Given the description of an element on the screen output the (x, y) to click on. 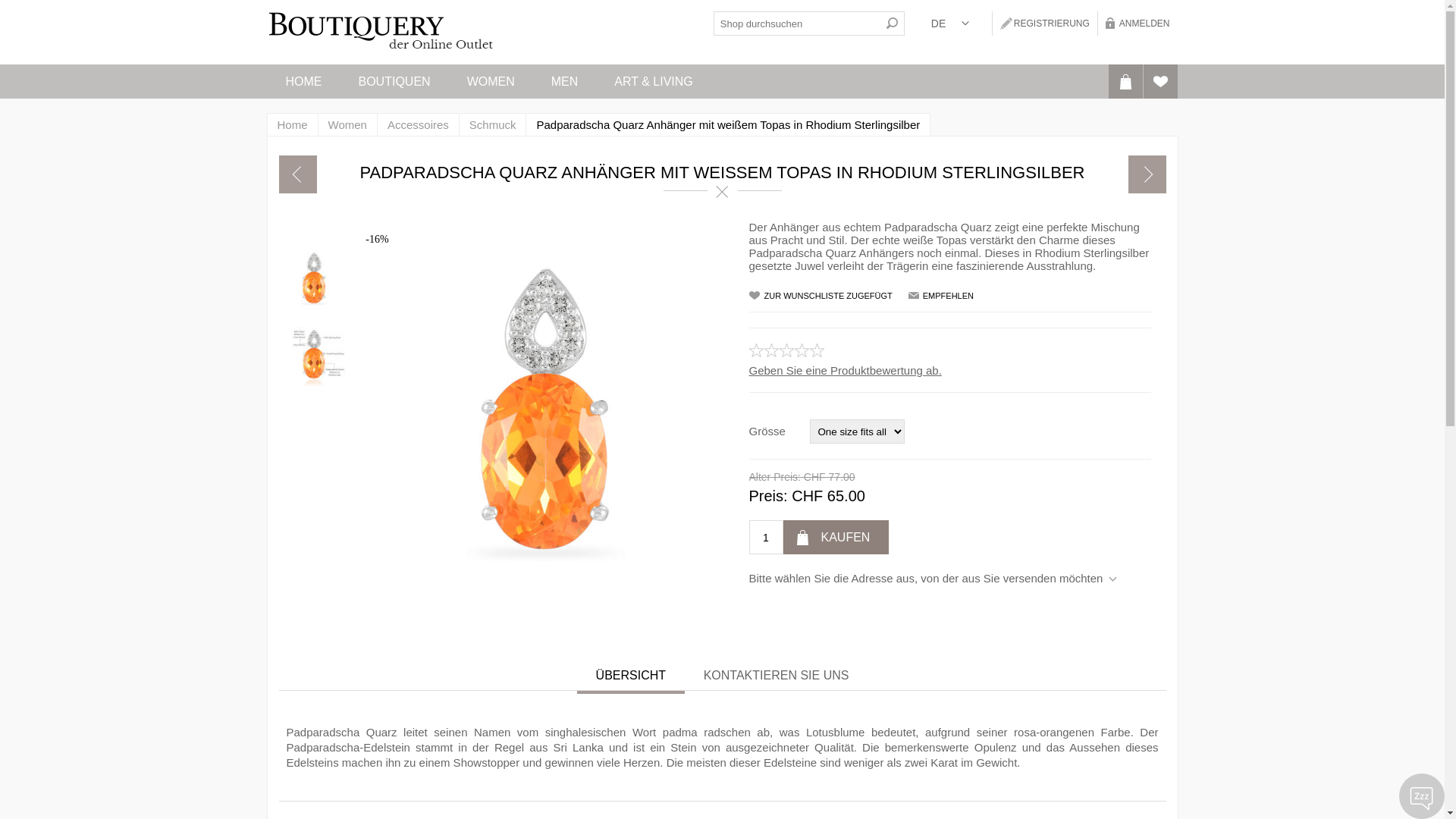
HOME Element type: text (302, 81)
Suchen Element type: text (892, 23)
Warenkorb Element type: text (1125, 81)
WOMEN Element type: text (490, 81)
MEN Element type: text (564, 81)
REGISTRIERUNG Element type: text (1044, 23)
Wunschliste Element type: text (1160, 81)
Kaufen Element type: hover (835, 537)
Boutiquery Element type: hover (380, 32)
Accessoires Element type: text (417, 124)
Geben Sie eine Produktbewertung ab. Element type: text (845, 370)
Citrin Ring mit Diamanten i... Element type: text (1147, 174)
BOUTIQUEN Element type: text (393, 81)
Home Element type: text (292, 124)
KONTAKTIEREN SIE UNS Element type: text (776, 675)
ART & LIVING Element type: text (653, 81)
Women Element type: text (347, 124)
Schmuck Element type: text (492, 124)
Empfehlen Element type: text (944, 295)
ANMELDEN Element type: text (1137, 23)
